Given the description of an element on the screen output the (x, y) to click on. 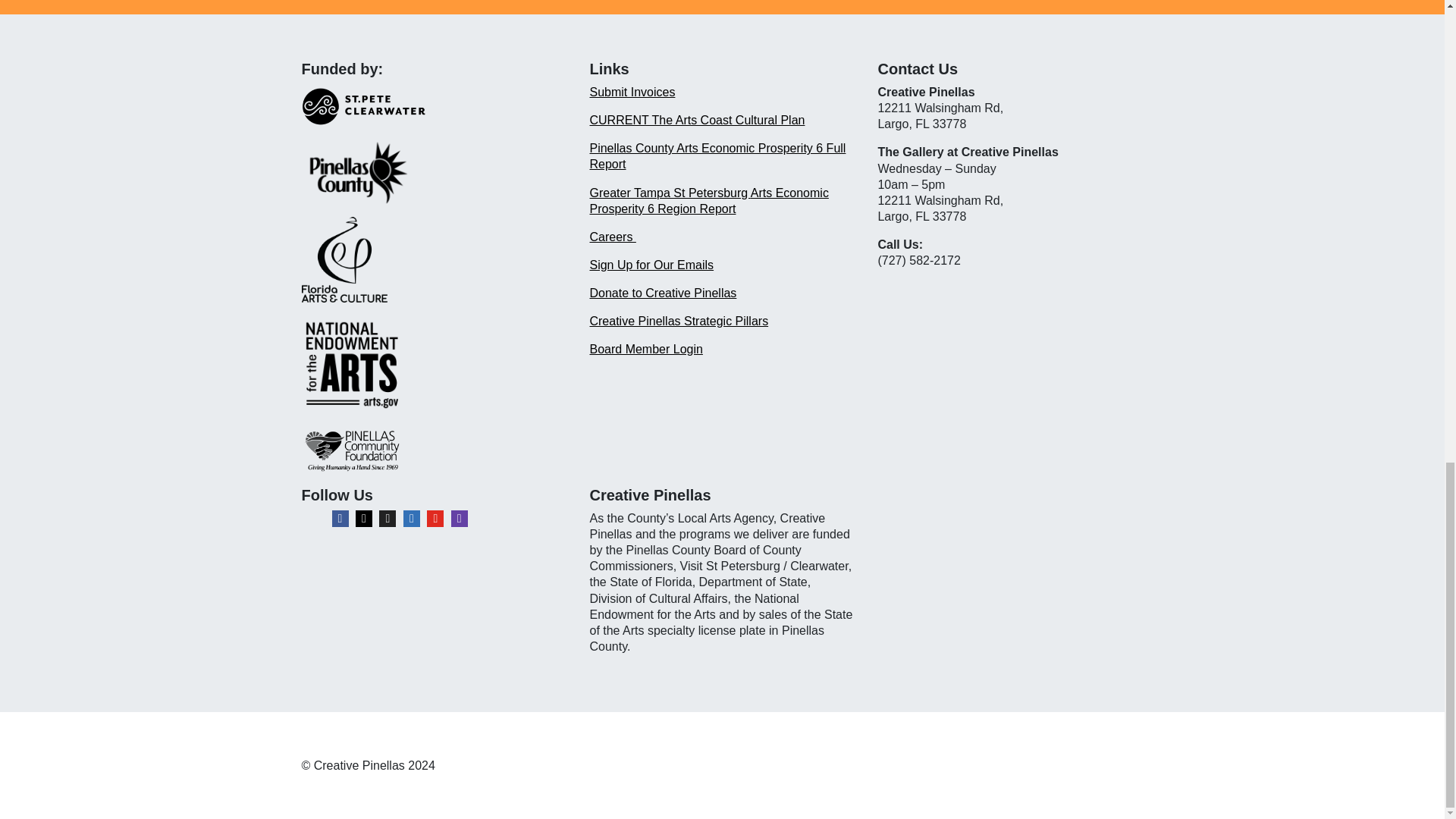
Linkedin (411, 518)
Sign Up for Our Emails (651, 264)
twitter (387, 518)
Board Member Login (645, 349)
Creative Pinellas Strategic Pillars (678, 320)
Greater Tampa St Petersburg (669, 192)
Careers  (611, 236)
instagram (363, 518)
facebook (340, 518)
Submit Invoices (632, 91)
linkedin (411, 518)
Donate to Creative Pinellas (662, 292)
Twitch (459, 518)
CURRENT The Arts Coast Cultural Plan (697, 119)
YouTube (435, 518)
